Given the description of an element on the screen output the (x, y) to click on. 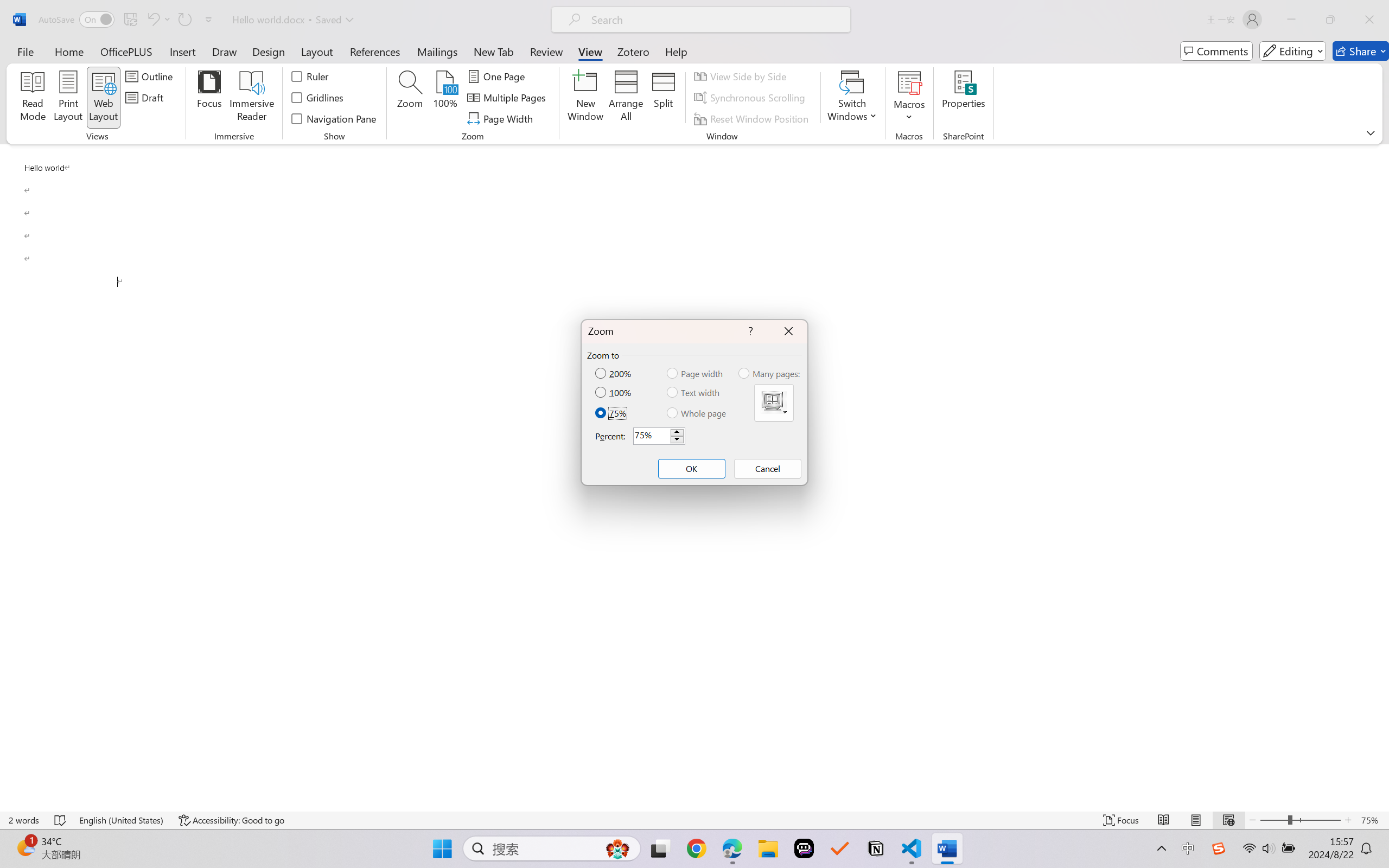
AutomationID: BadgeAnchorLargeTicker (24, 847)
OK (691, 468)
Arrange All (625, 97)
Multiple Pages (774, 402)
Switch Windows (852, 97)
